Given the description of an element on the screen output the (x, y) to click on. 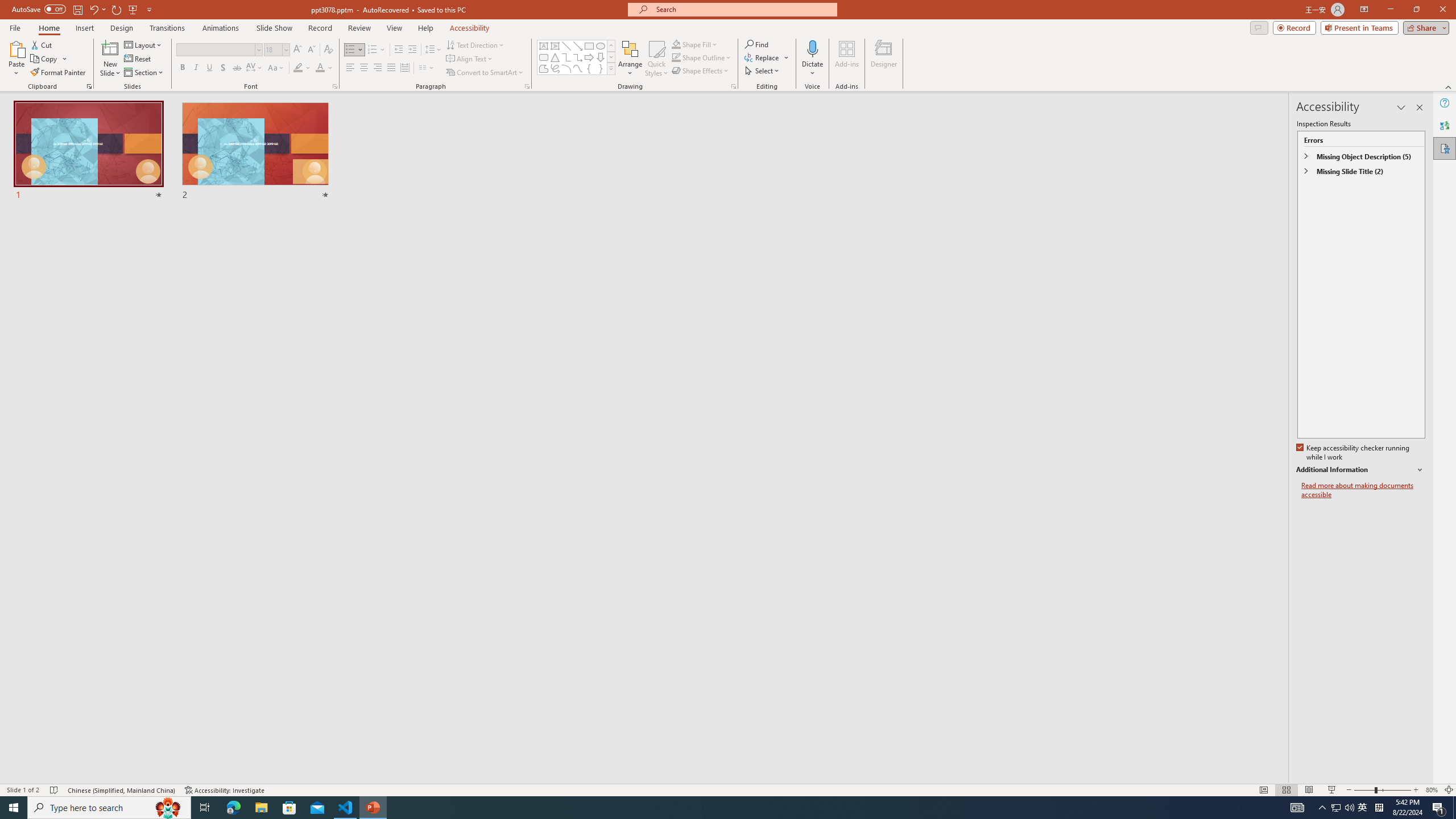
Read more about making documents accessible (1363, 489)
